Given the description of an element on the screen output the (x, y) to click on. 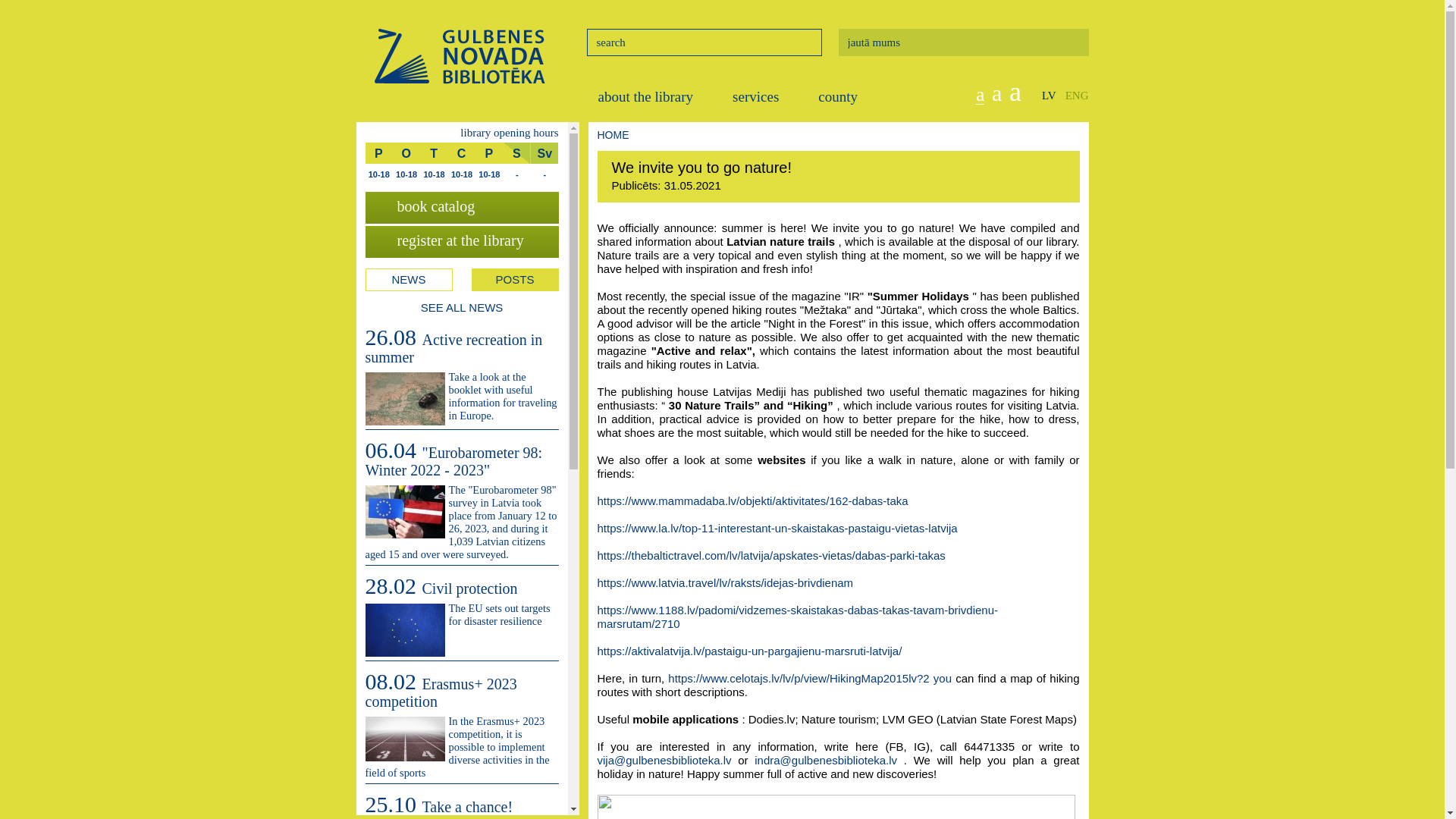
about the library (644, 96)
county (837, 96)
services (755, 96)
